Given the description of an element on the screen output the (x, y) to click on. 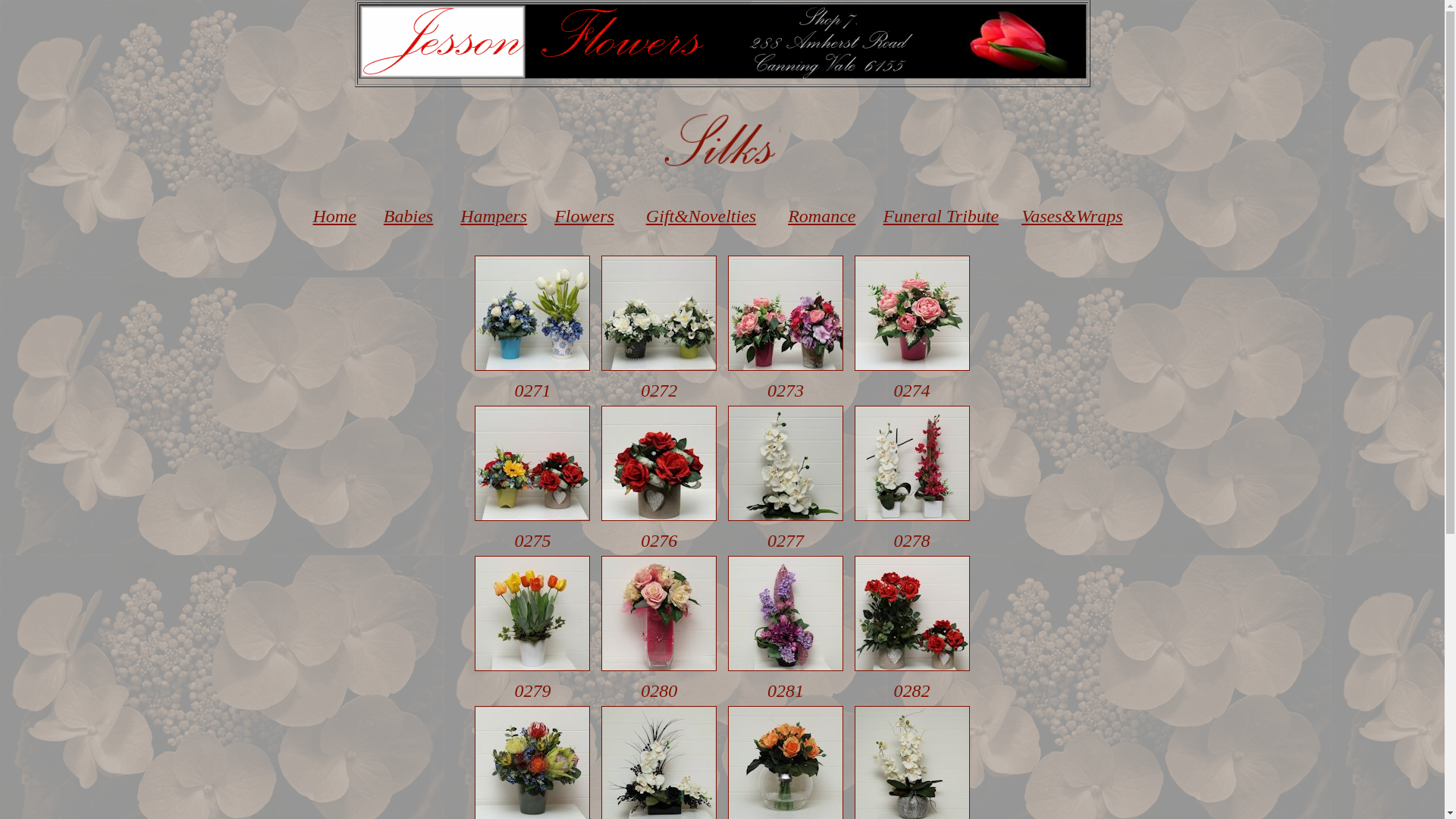
 Flowers  Element type: text (583, 215)
   Vases&Wraps   Element type: text (1069, 215)
  Babies   Element type: text (408, 215)
 Funeral Tribute  Element type: text (940, 215)
  Gift&Novelties  Element type: text (698, 215)
  Hampers  Element type: text (491, 215)
 Home Element type: text (332, 215)
 Romance  Element type: text (821, 215)
